Given the description of an element on the screen output the (x, y) to click on. 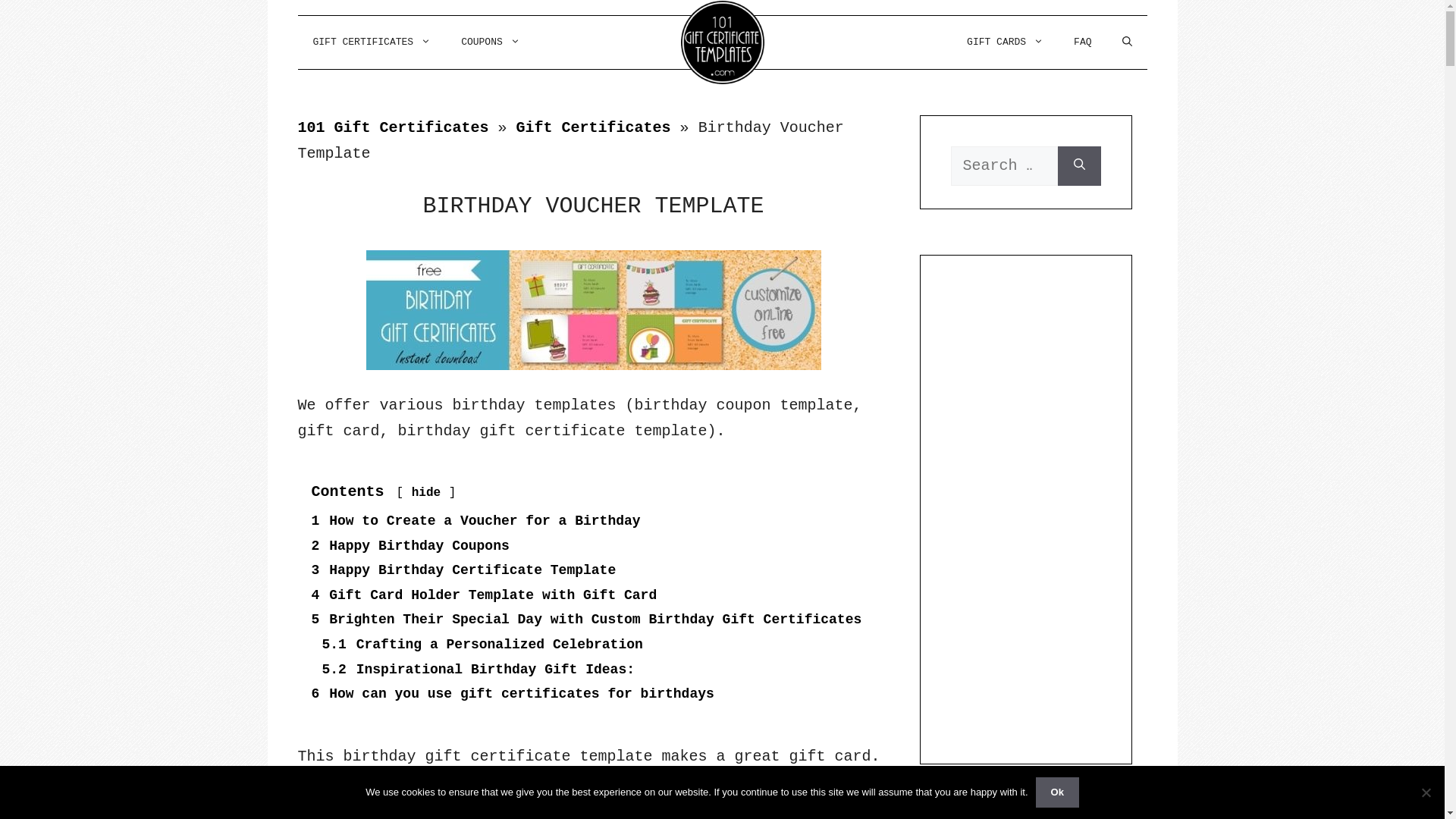
5.2 Inspirational Birthday Gift Ideas: Element type: text (477, 669)
Advertisement Element type: hover (1025, 512)
5.1 Crafting a Personalized Celebration Element type: text (481, 644)
6 How can you use gift certificates for birthdays Element type: text (511, 693)
Search for: Element type: hover (1003, 165)
Ok Element type: text (1057, 792)
1 How to Create a Voucher for a Birthday Element type: text (475, 520)
GIFT CARDS Element type: text (1004, 42)
4 Gift Card Holder Template with Gift Card Element type: text (483, 594)
3 Happy Birthday Certificate Template Element type: text (462, 569)
COUPONS Element type: text (490, 42)
No Element type: hover (1425, 792)
Gift Certificates Element type: text (593, 127)
101 Gift Certificates Element type: text (392, 127)
GIFT CERTIFICATES Element type: text (371, 42)
hide Element type: text (425, 492)
FAQ Element type: text (1082, 42)
2 Happy Birthday Coupons Element type: text (409, 545)
